Given the description of an element on the screen output the (x, y) to click on. 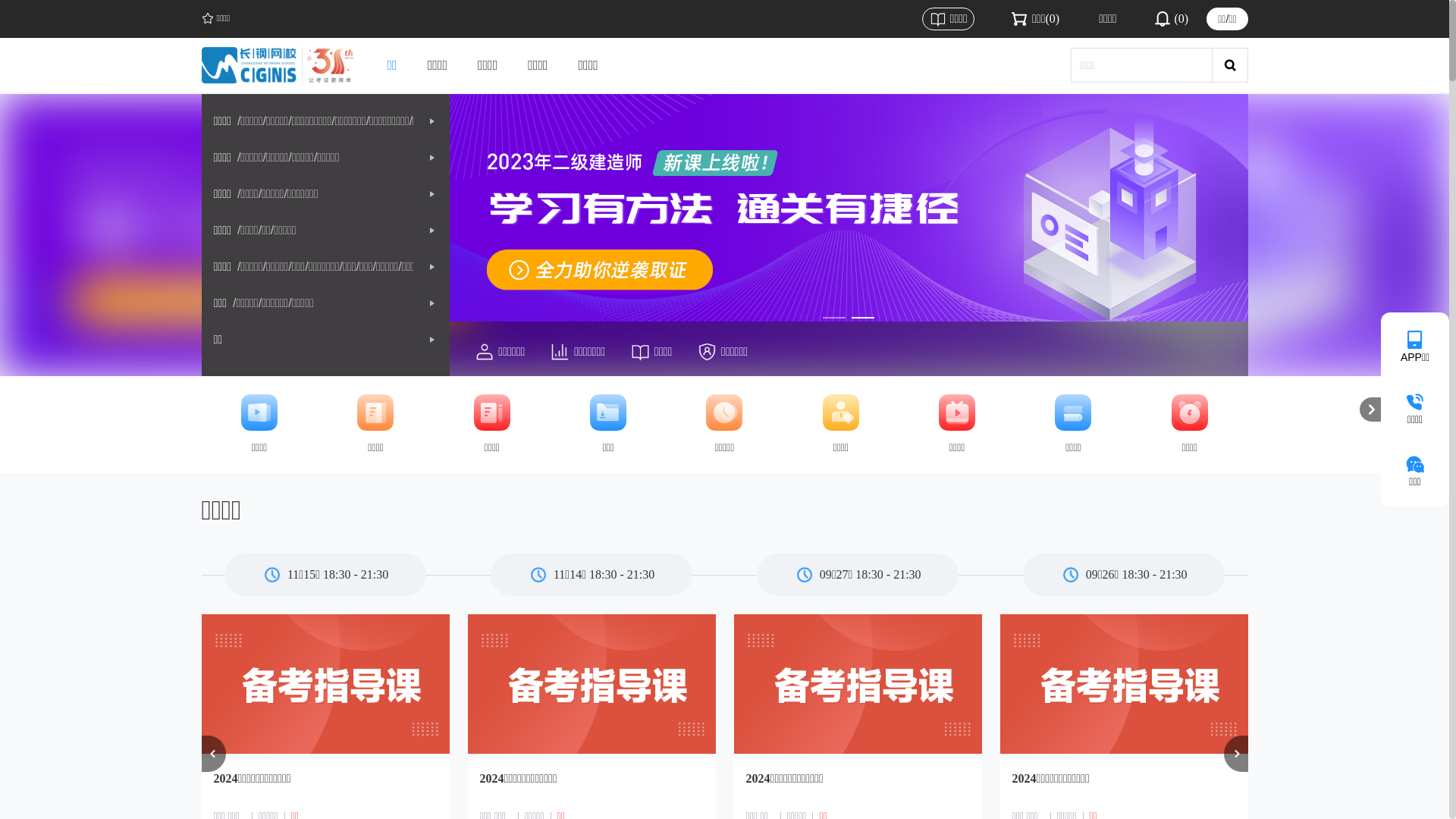
(0) Element type: text (1170, 18)
